Given the description of an element on the screen output the (x, y) to click on. 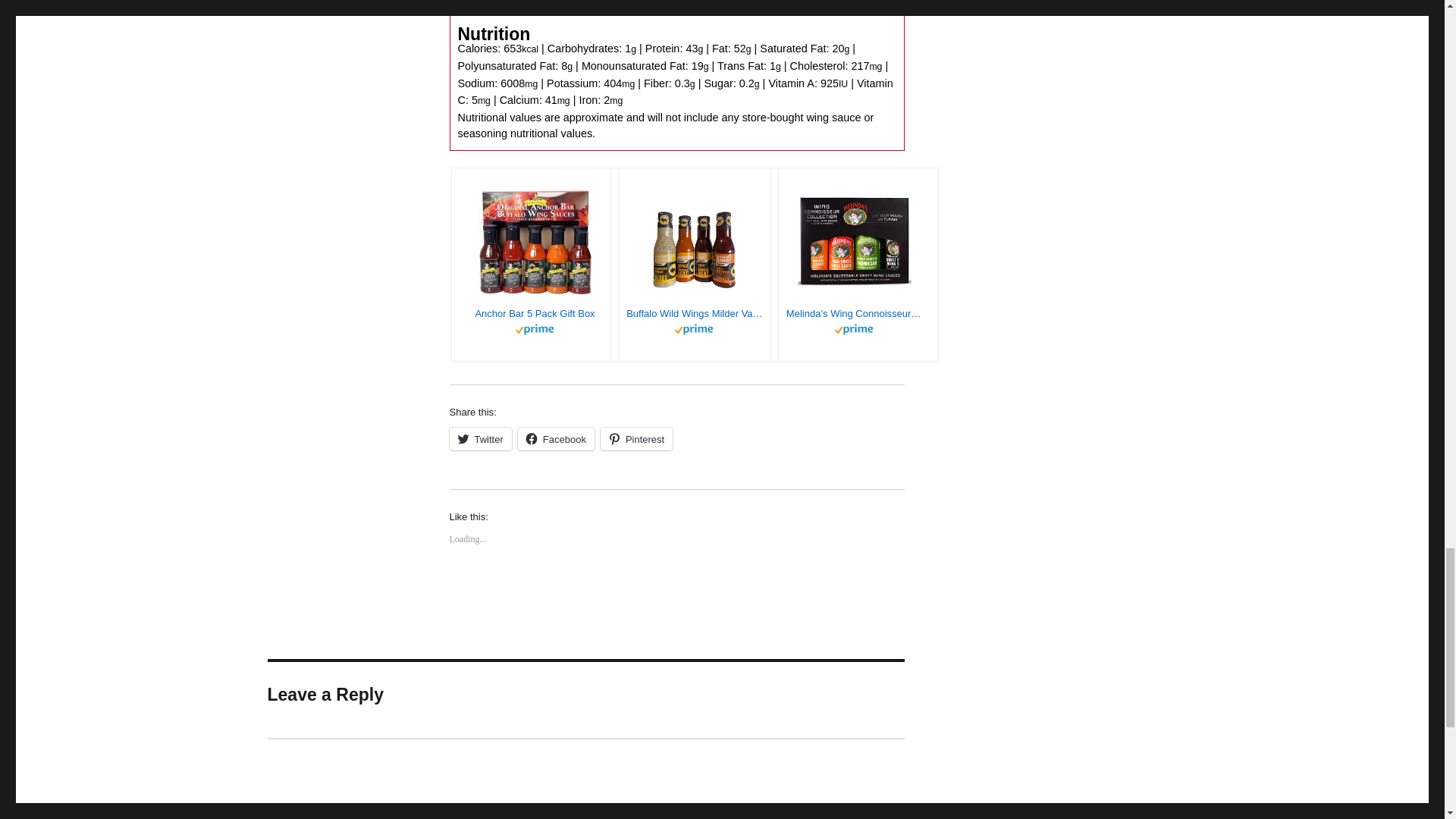
Anchor Bar 5 Pack Gift Box (535, 314)
Click to share on Twitter (479, 438)
Anchor Bar 5 Pack Gift Box (535, 314)
Click to share on Facebook (556, 438)
Click to share on Pinterest (635, 438)
